Given the description of an element on the screen output the (x, y) to click on. 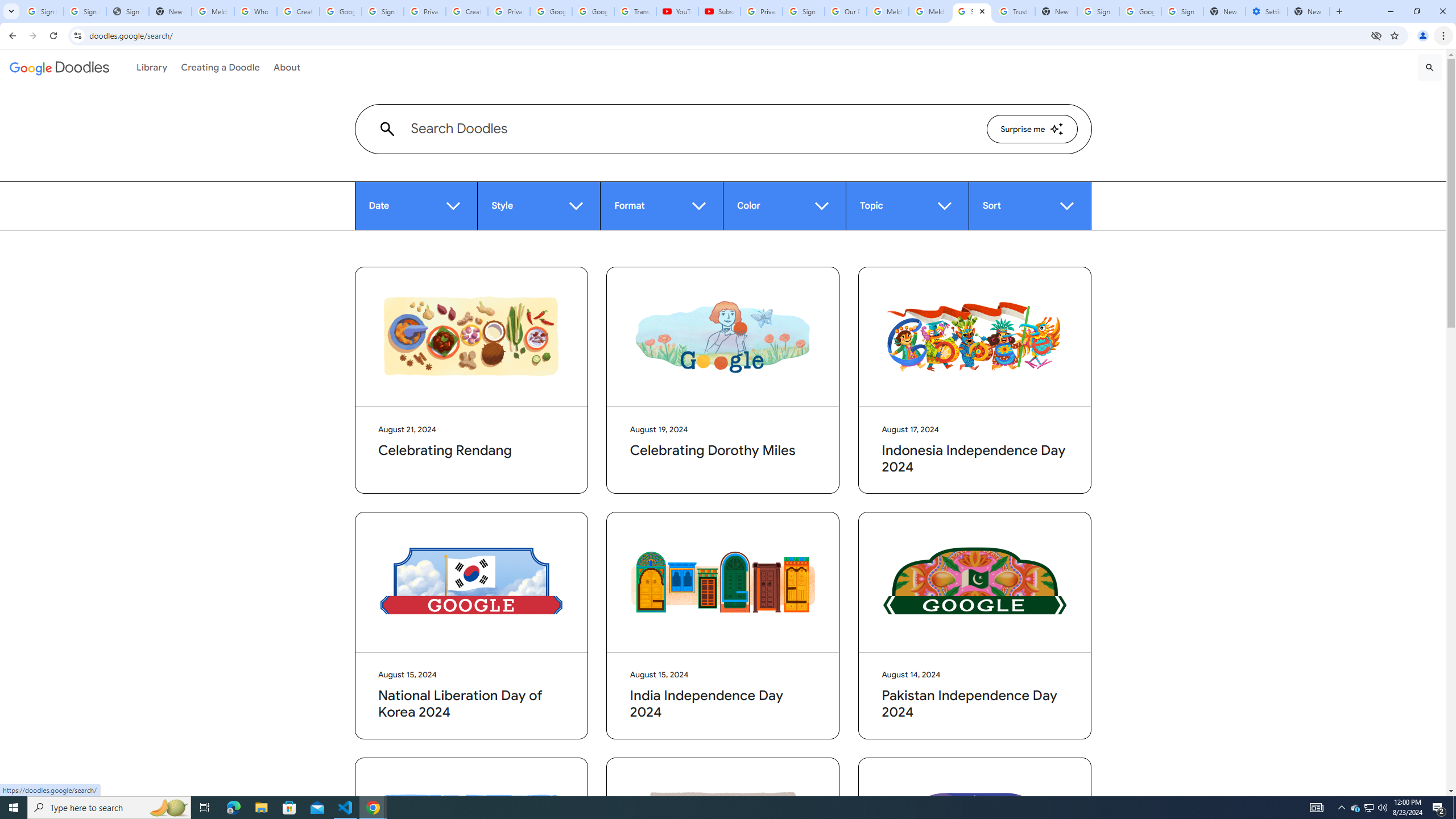
Google doodles (59, 67)
